Given the description of an element on the screen output the (x, y) to click on. 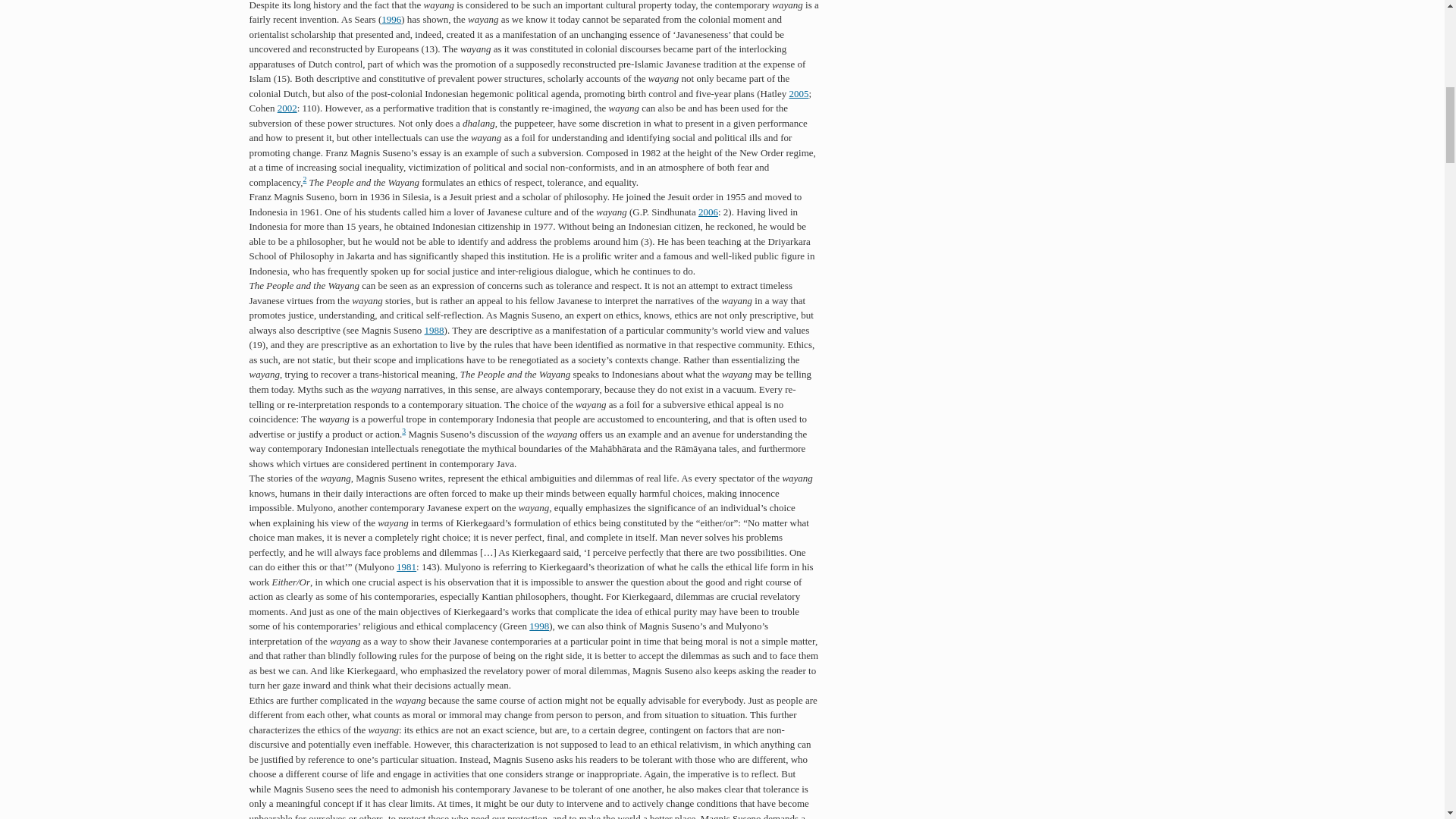
2002 (287, 107)
1996 (391, 19)
2005 (798, 93)
1998 (538, 625)
2006 (707, 211)
1981 (406, 566)
1988 (434, 329)
